Given the description of an element on the screen output the (x, y) to click on. 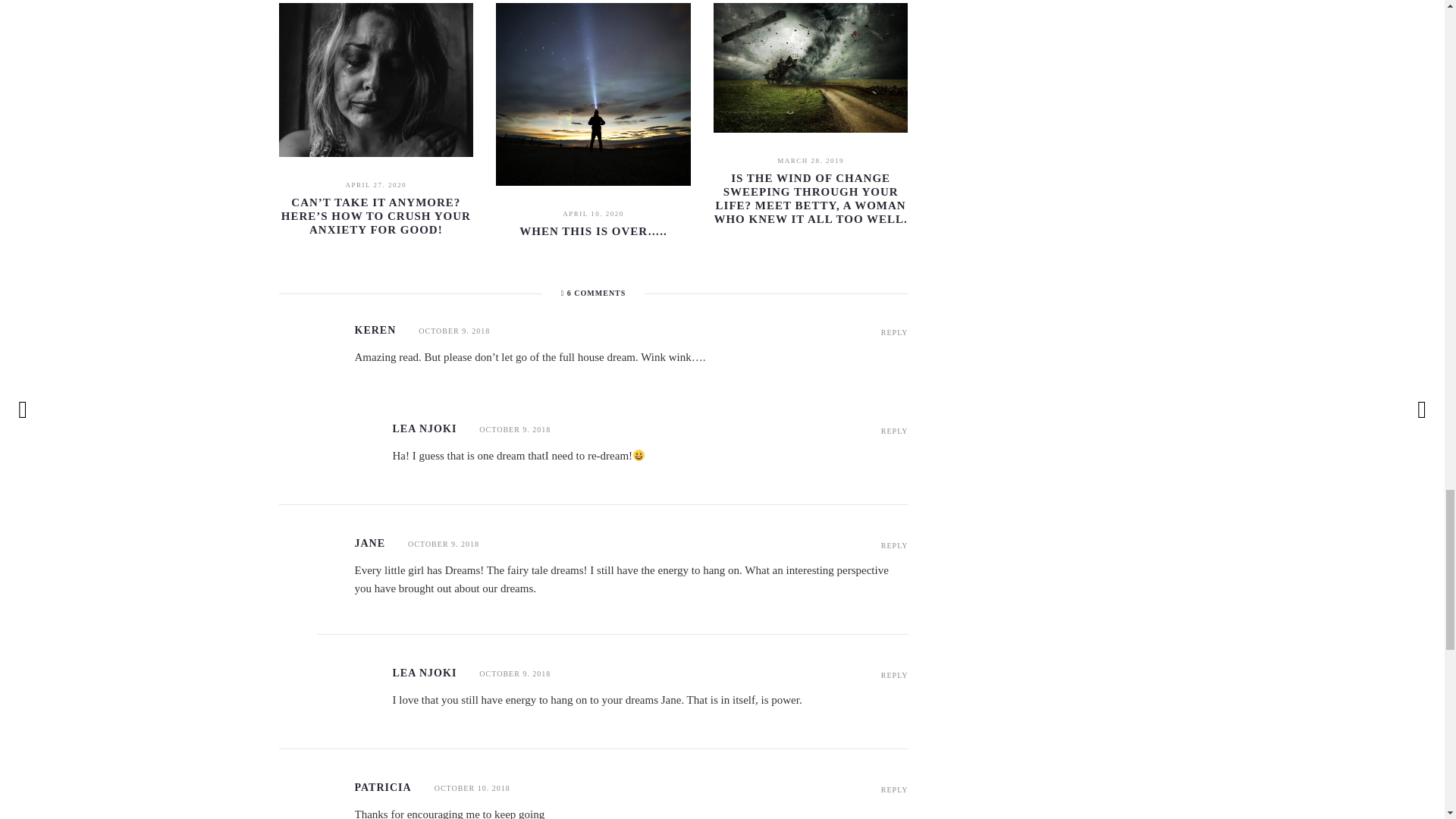
REPLY (894, 545)
REPLY (894, 789)
REPLY (894, 430)
LEA NJOKI (425, 428)
LEA NJOKI (425, 672)
REPLY (894, 332)
6 COMMENTS (593, 293)
REPLY (894, 674)
